Given the description of an element on the screen output the (x, y) to click on. 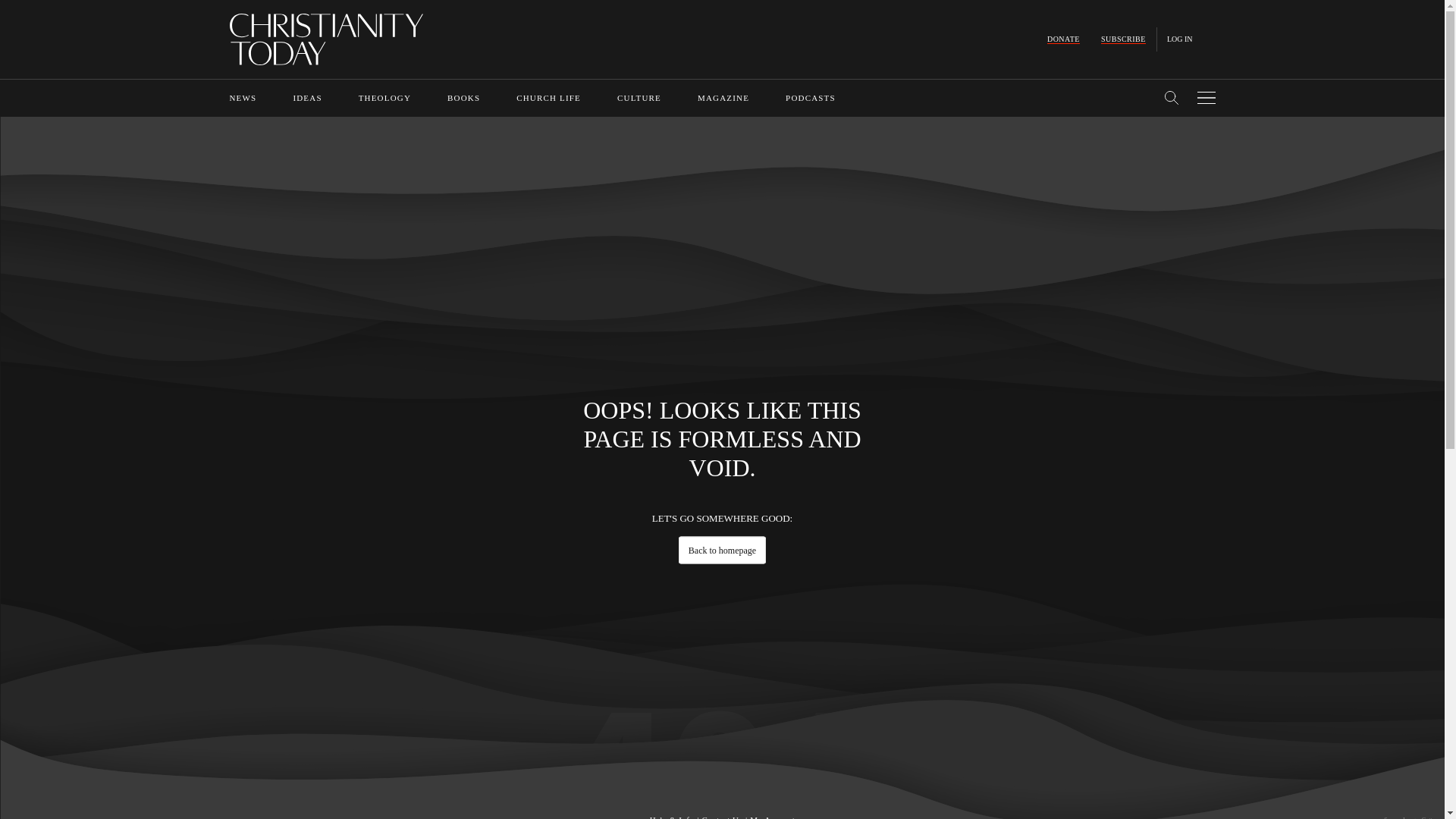
DONATE (1063, 39)
LOG IN (1179, 39)
IDEAS (306, 97)
MAGAZINE (723, 97)
CULTURE (639, 97)
PODCASTS (810, 97)
NEWS (242, 97)
SUBSCRIBE (1122, 39)
CHURCH LIFE (548, 97)
THEOLOGY (384, 97)
